Given the description of an element on the screen output the (x, y) to click on. 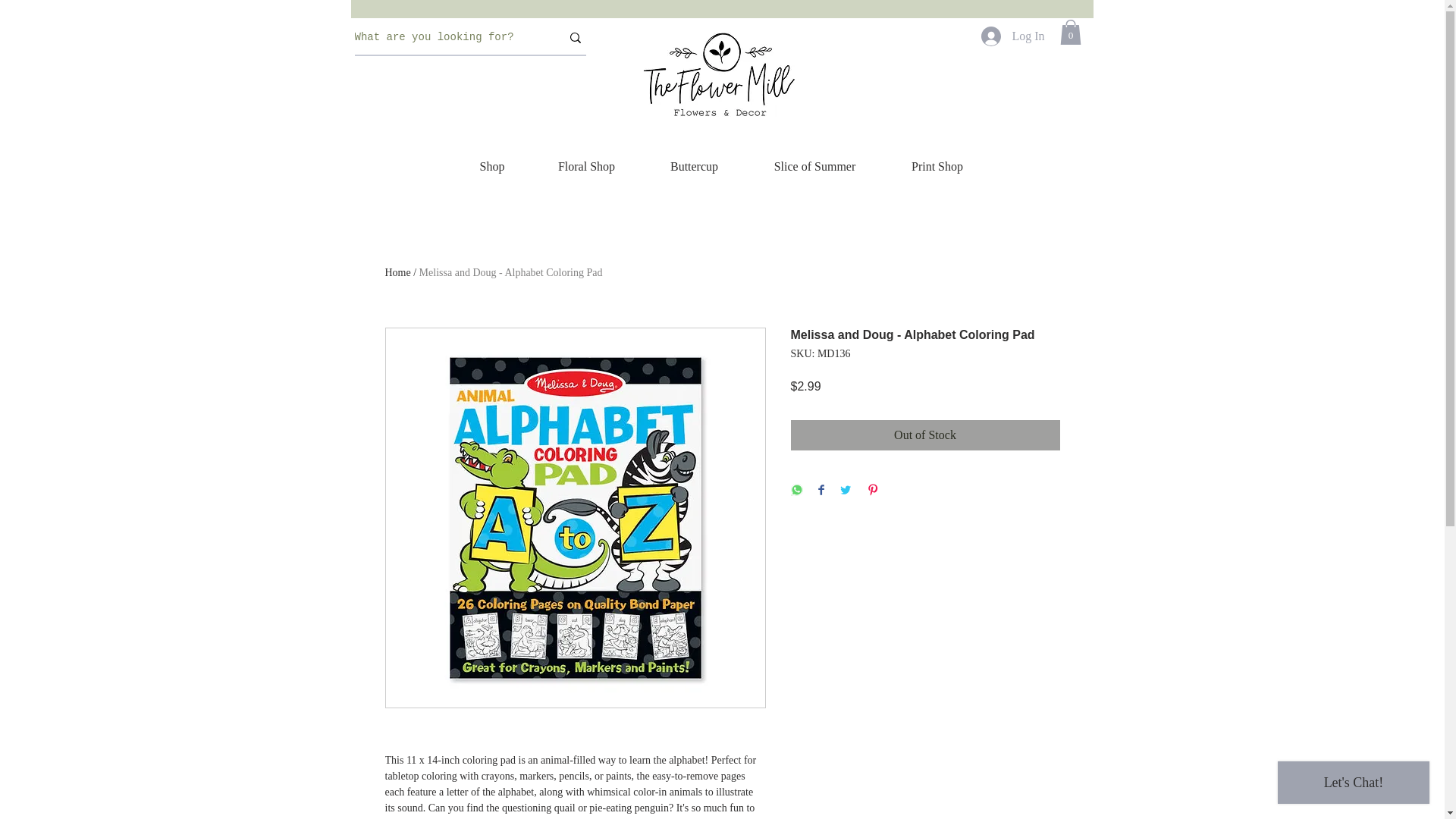
Log In (1012, 36)
Home (397, 272)
Print Shop (937, 166)
Out of Stock (924, 435)
Slice of Summer (814, 166)
Buttercup (694, 166)
Melissa and Doug - Alphabet Coloring Pad (510, 272)
